Given the description of an element on the screen output the (x, y) to click on. 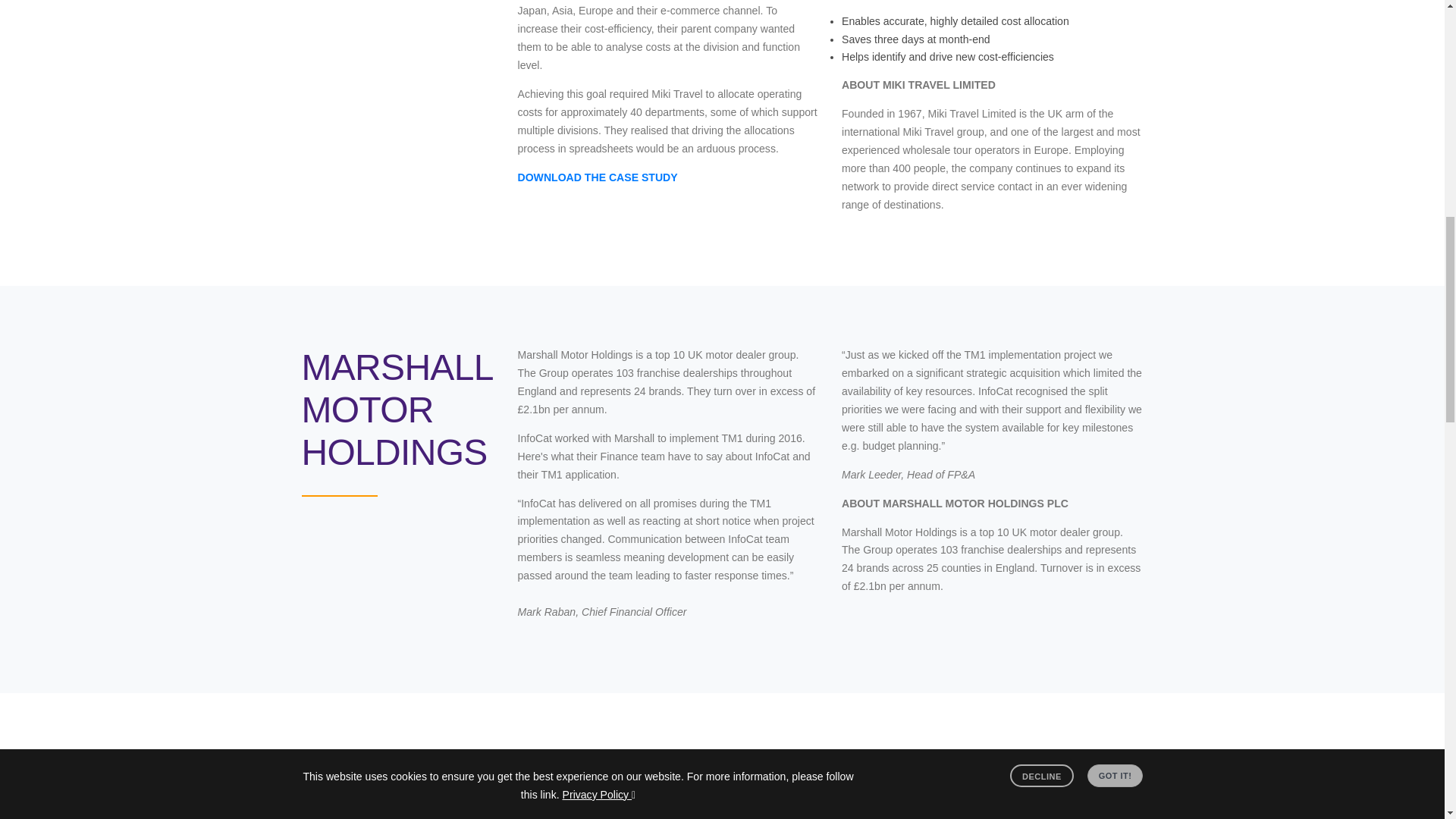
DOWNLOAD THE CASE STUDY (596, 177)
Downloads (596, 177)
